Given the description of an element on the screen output the (x, y) to click on. 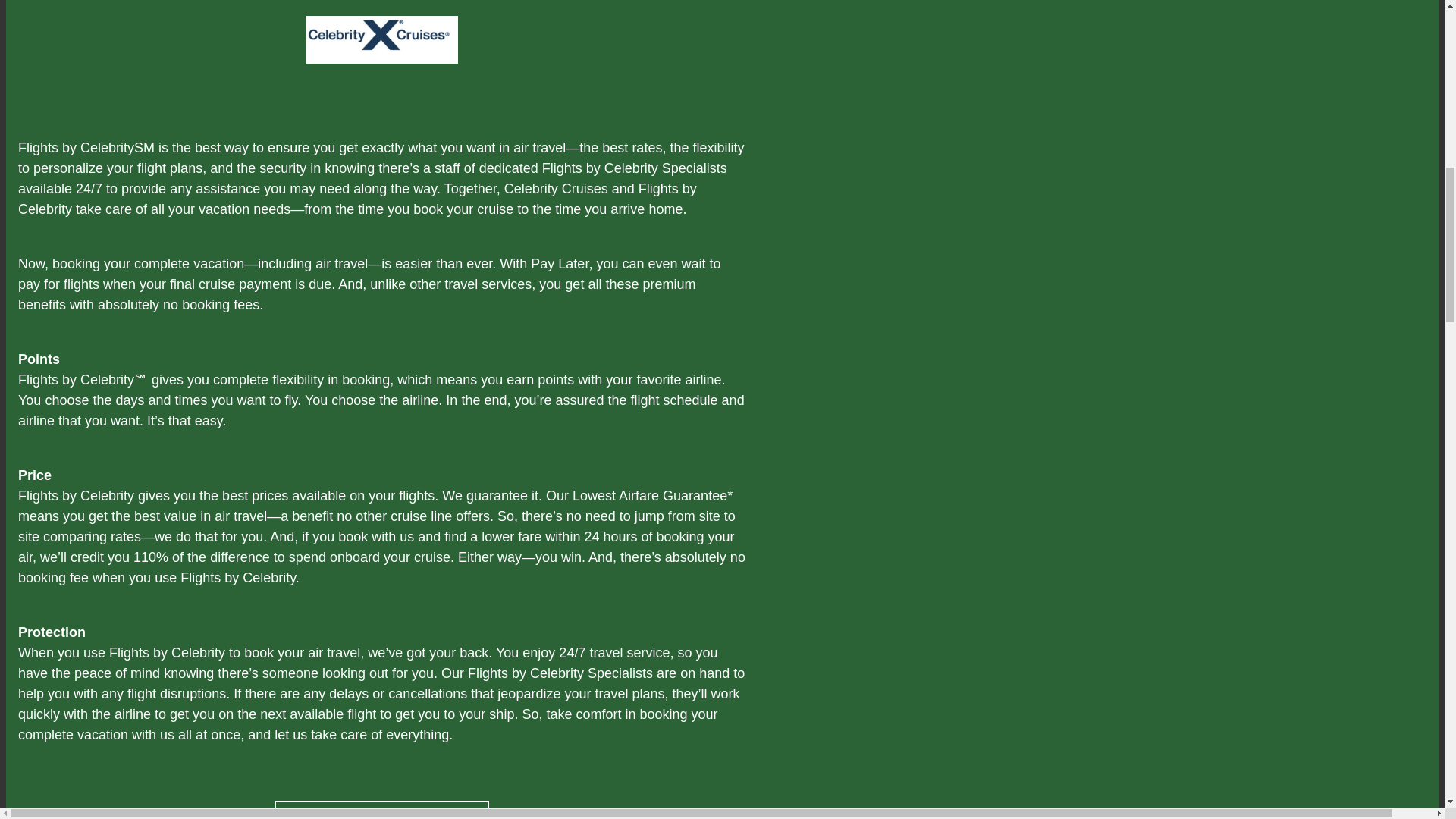
Start Your Trip Today (382, 809)
